Given the description of an element on the screen output the (x, y) to click on. 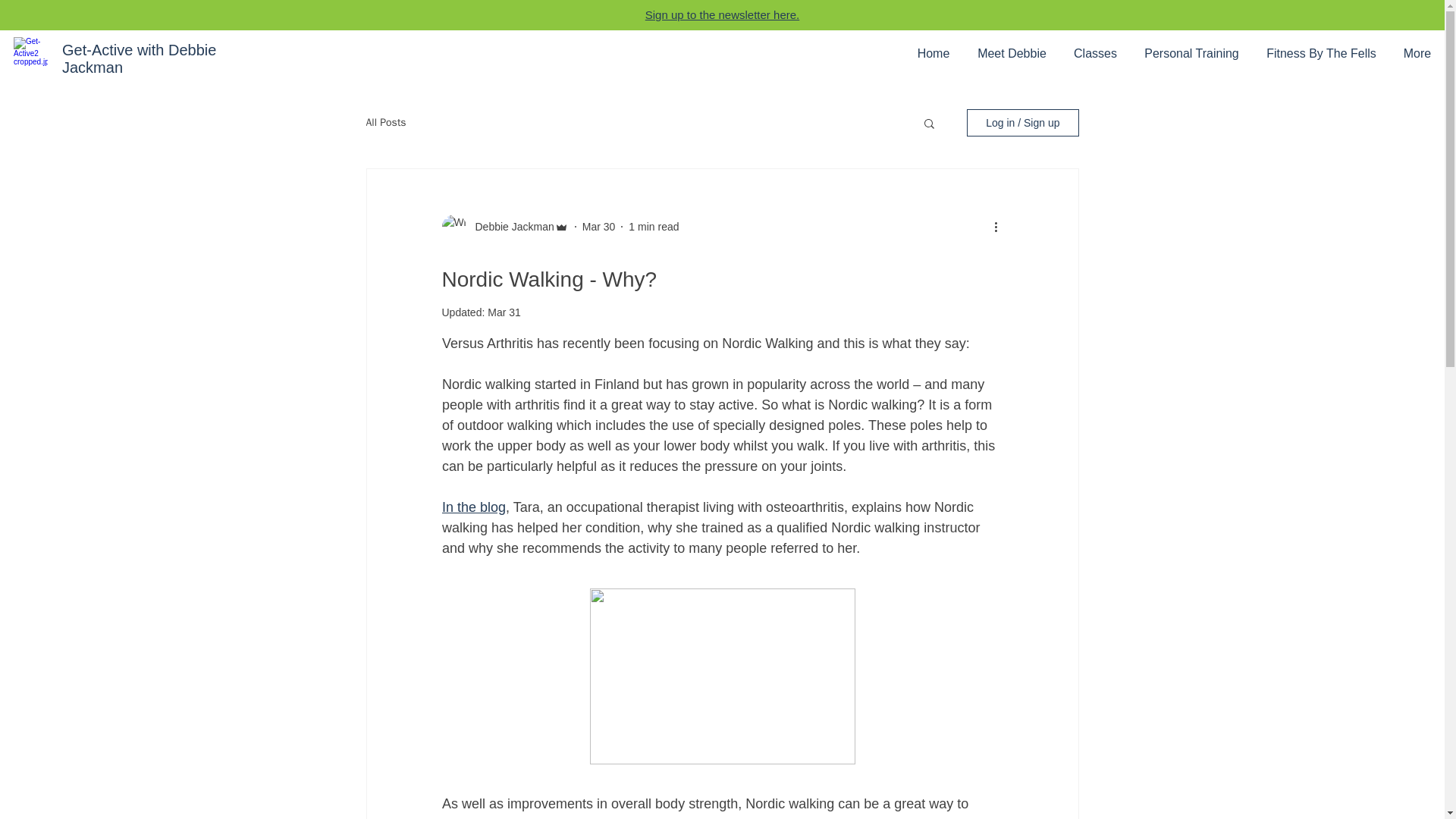
In the blog (473, 507)
Sign up to the newsletter here. (722, 14)
Mar 31 (504, 312)
Fitness By The Fells (1321, 53)
Mar 30 (598, 225)
Classes (1095, 53)
Personal Training (1191, 53)
Debbie Jackman (509, 226)
Get-Active with Debbie Jackman (138, 58)
1 min read (653, 225)
